Given the description of an element on the screen output the (x, y) to click on. 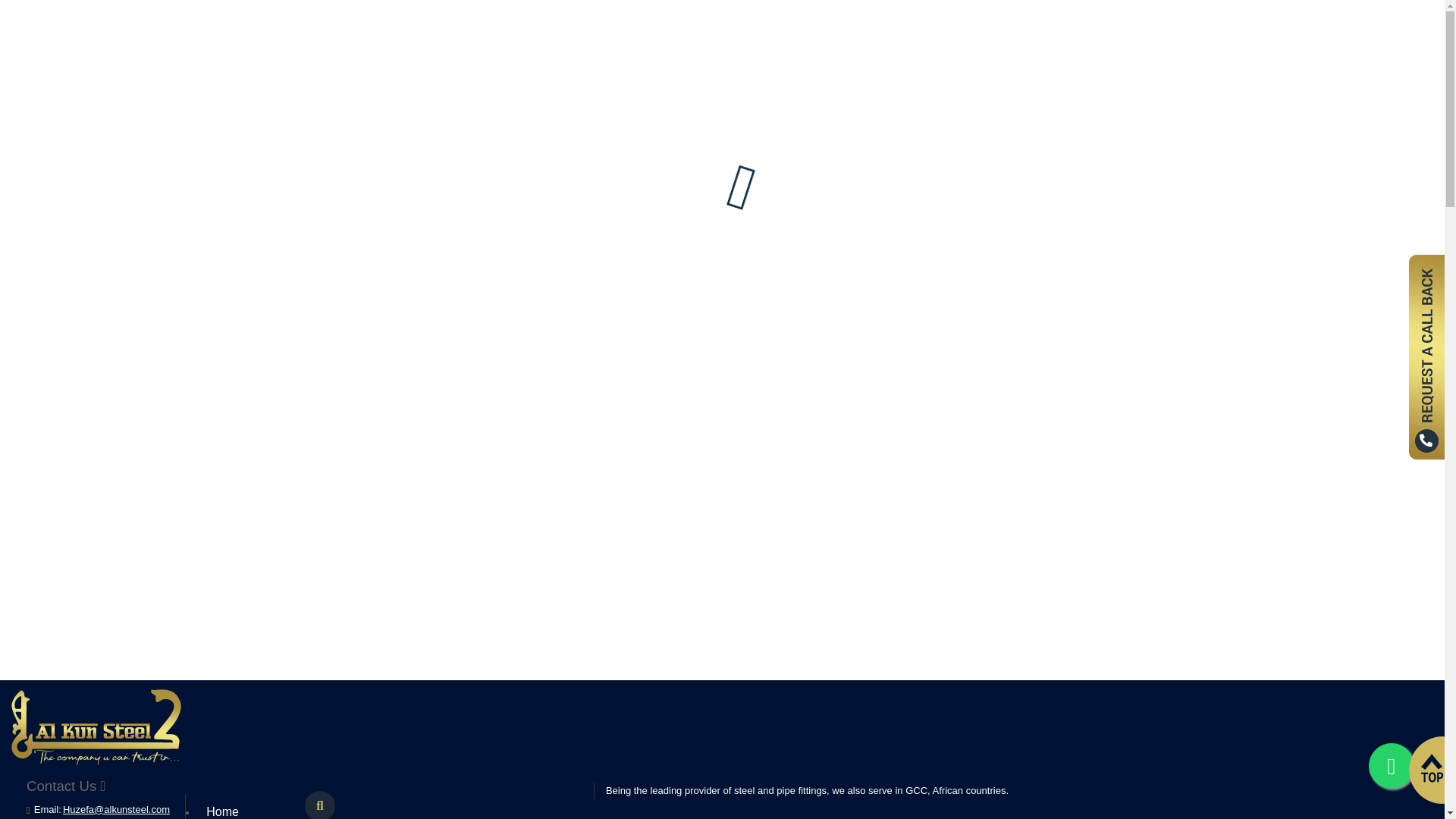
Home (247, 807)
Al Kun Steel Trading (95, 727)
Al Kun Steel Trading (95, 761)
Search (319, 805)
Home (247, 807)
